Given the description of an element on the screen output the (x, y) to click on. 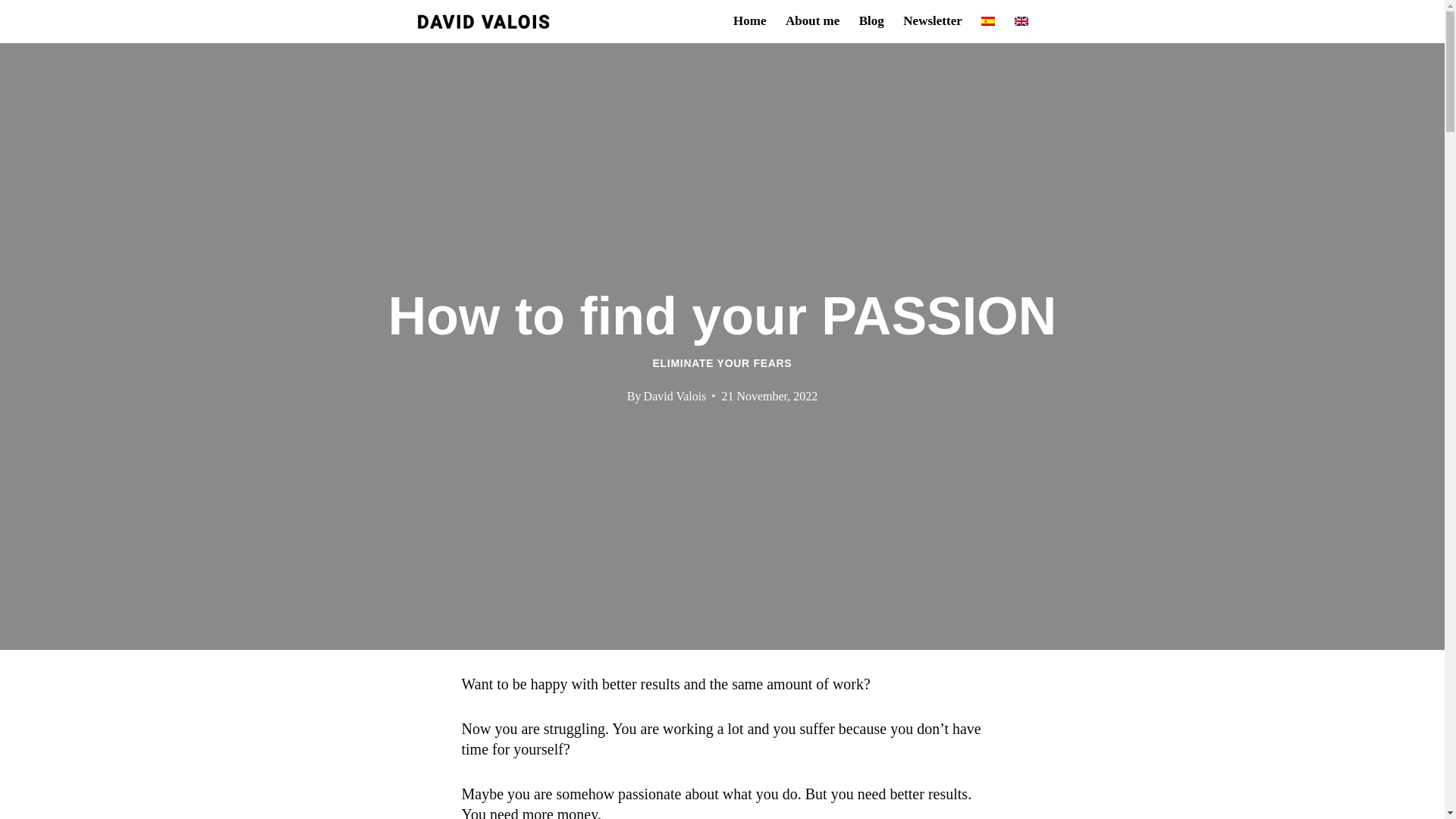
Blog (870, 21)
Home (749, 21)
About me (812, 21)
David Valois (674, 395)
ELIMINATE YOUR FEARS (722, 363)
Newsletter (932, 21)
